Given the description of an element on the screen output the (x, y) to click on. 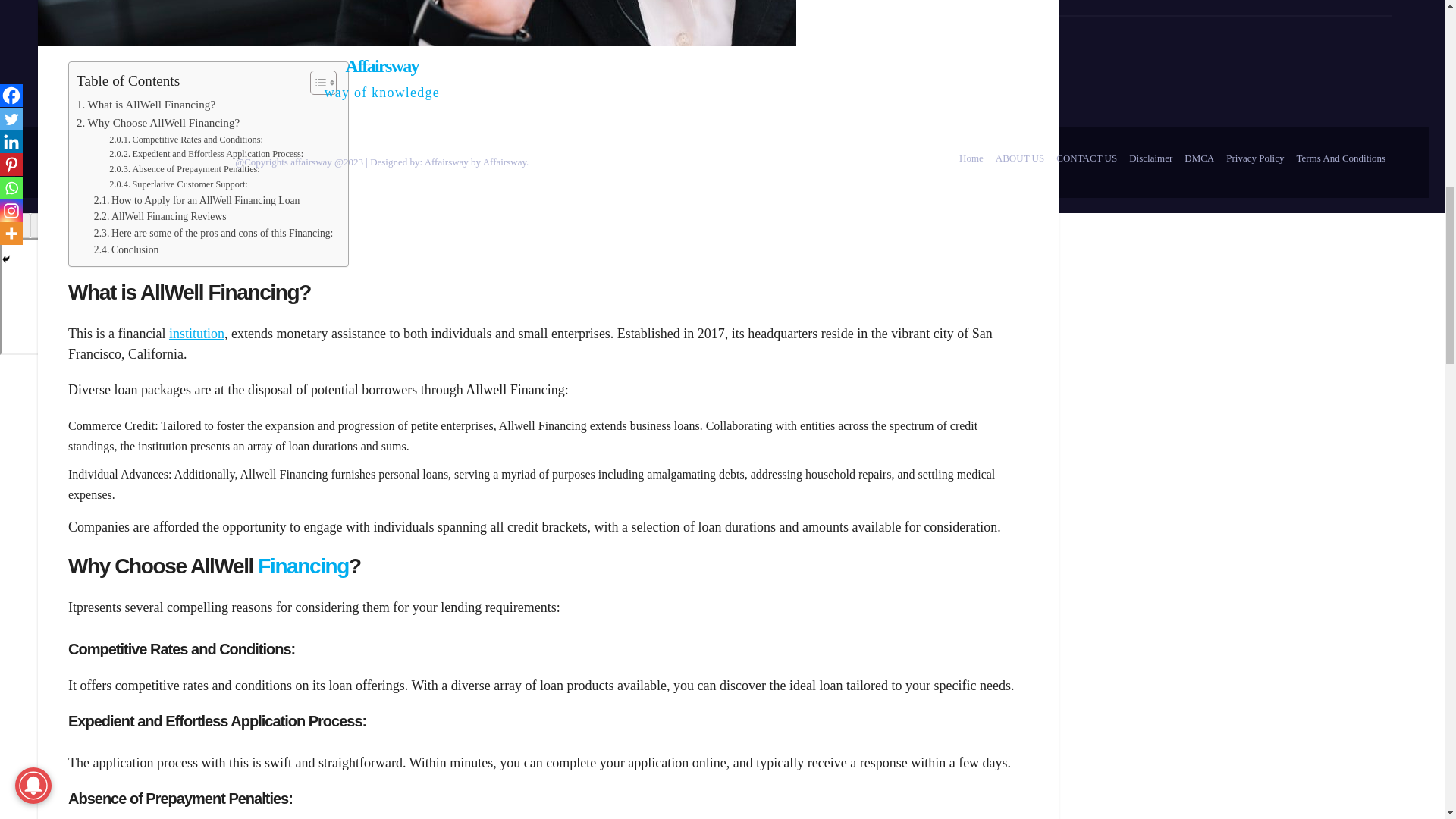
Superlative Customer Support: (178, 184)
Expedient and Effortless Application Process: (205, 154)
Absence of Prepayment Penalties: (184, 169)
Competitive Rates and Conditions: (186, 140)
What is AllWell Financing? (146, 104)
Why Choose AllWell Financing? (158, 122)
How to Apply for an AllWell Financing Loan (196, 200)
